Given the description of an element on the screen output the (x, y) to click on. 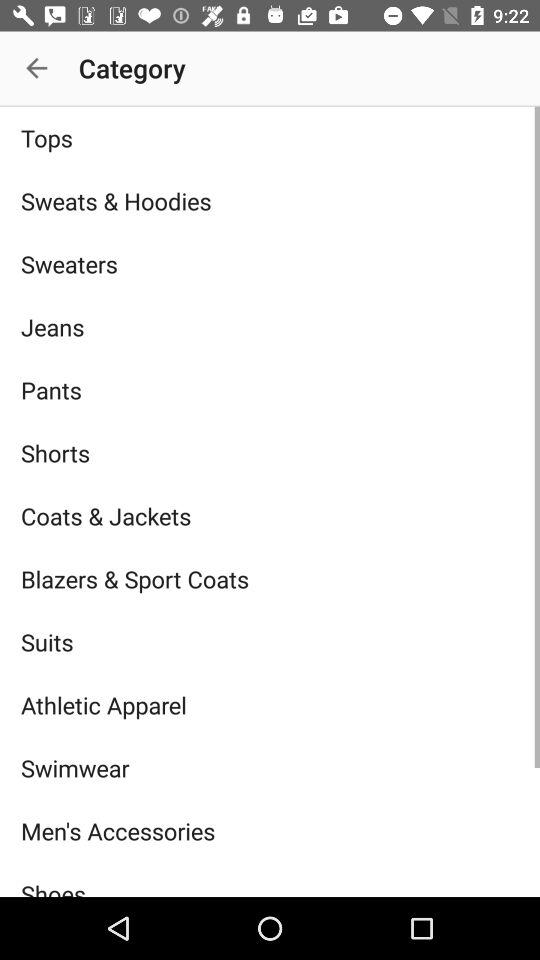
open the icon below coats & jackets (270, 578)
